Given the description of an element on the screen output the (x, y) to click on. 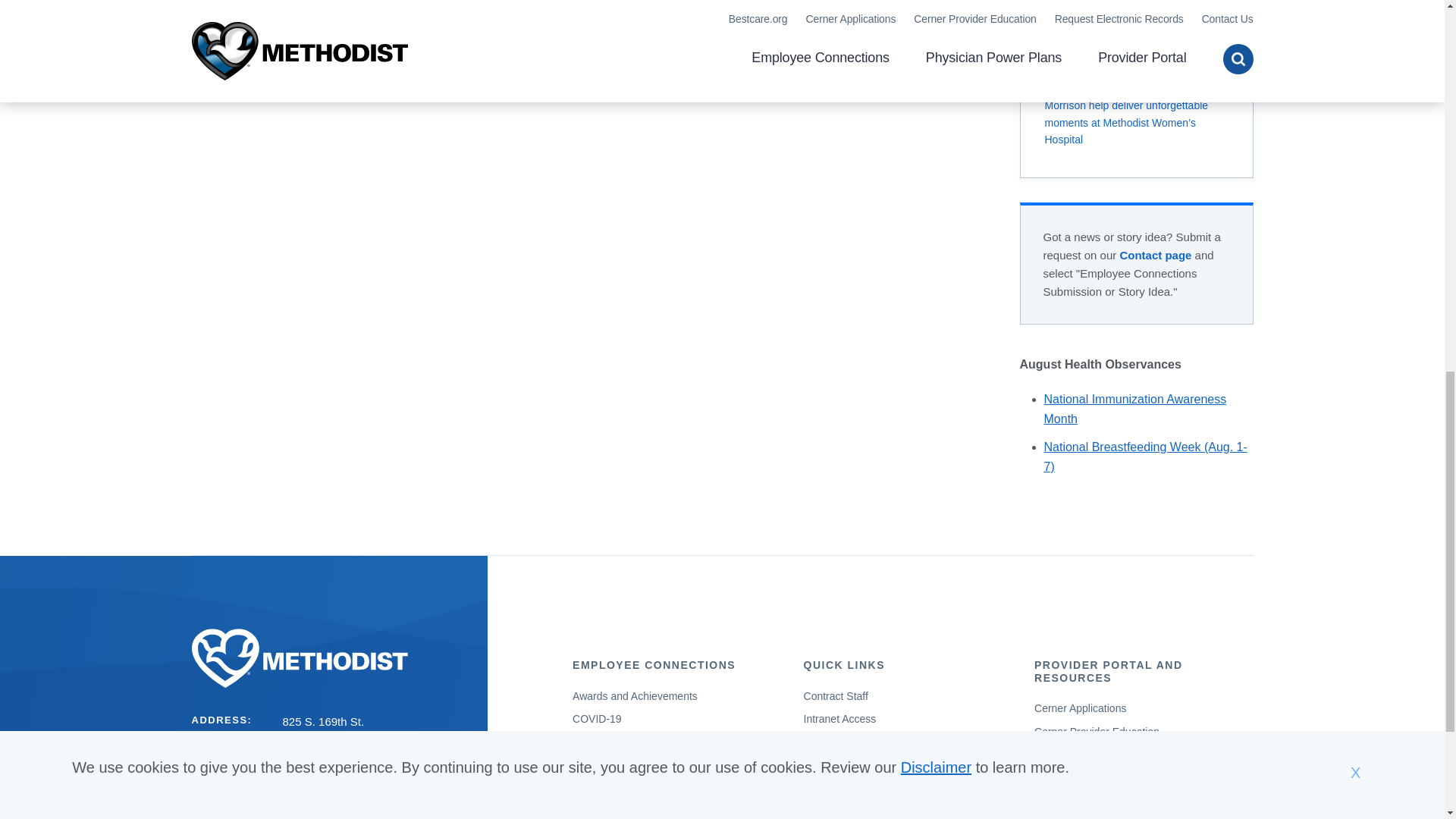
Contact Us (1155, 254)
COVID-19 (596, 718)
Home (329, 658)
HR and Benefits (610, 741)
twitter (321, 816)
EMPLOYEE CONNECTIONS (653, 664)
instagram (406, 816)
youtube (349, 816)
Contact page (1155, 254)
linkedin (378, 816)
